Given the description of an element on the screen output the (x, y) to click on. 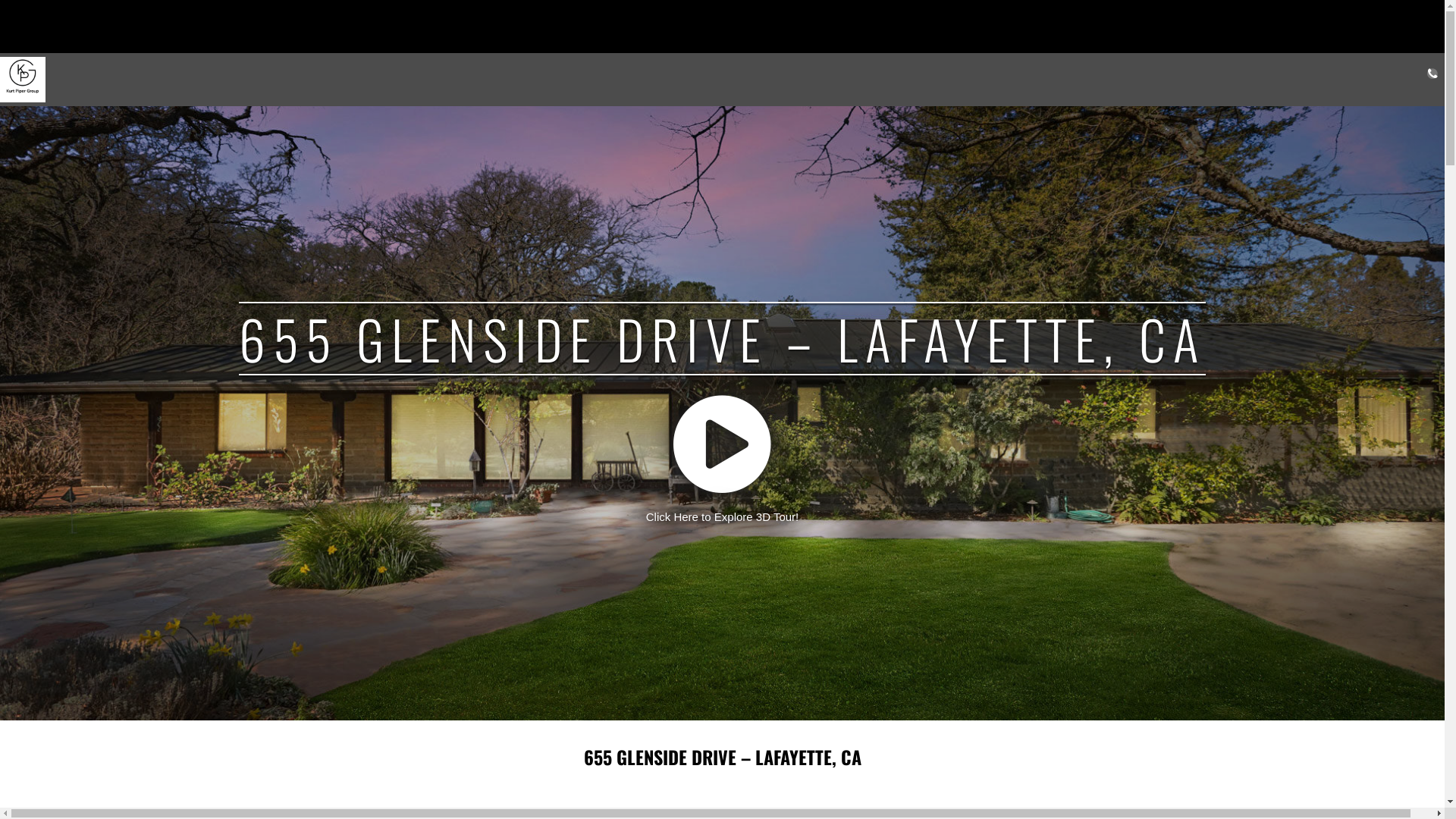
CONTACT Element type: hover (1432, 79)
